Given the description of an element on the screen output the (x, y) to click on. 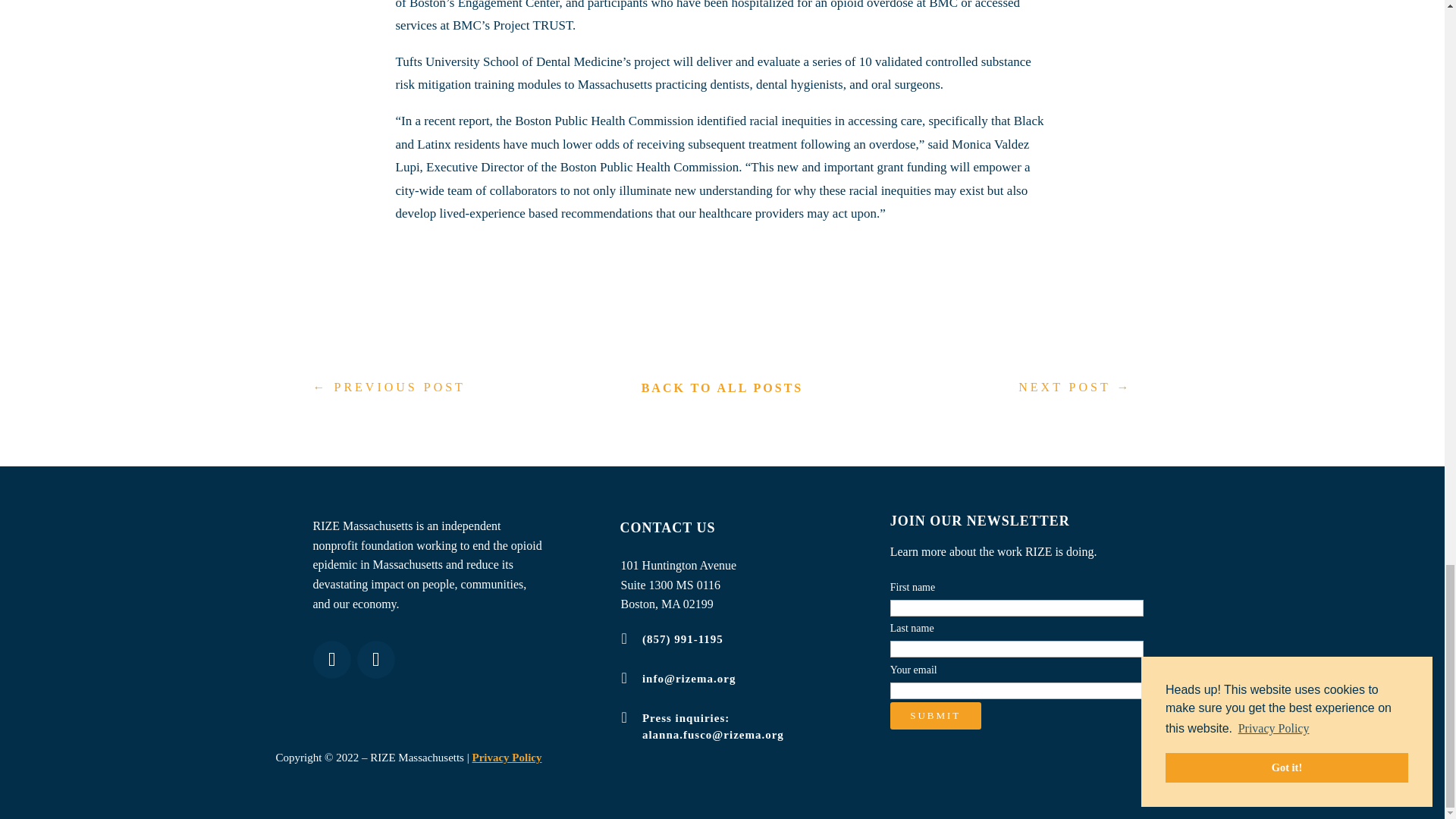
Follow on LinkedIn (331, 659)
Submit (935, 715)
Follow on X (375, 659)
